Given the description of an element on the screen output the (x, y) to click on. 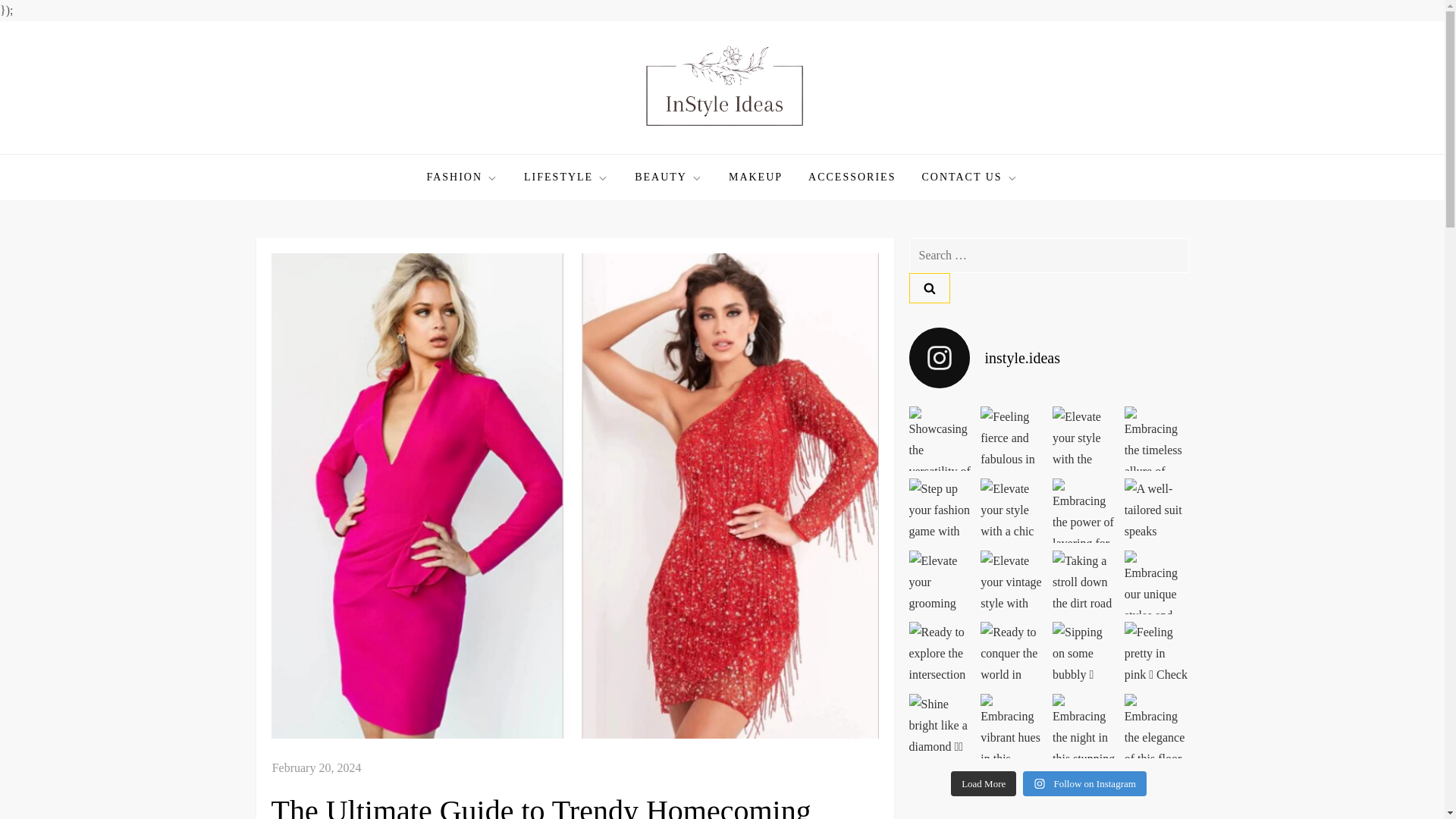
MAKEUP (755, 176)
CONTACT US (969, 176)
ACCESSORIES (851, 176)
February 20, 2024 (316, 767)
BEAUTY (668, 176)
Search (928, 287)
InStyle Ideas (335, 152)
LIFESTYLE (566, 176)
FASHION (461, 176)
